Given the description of an element on the screen output the (x, y) to click on. 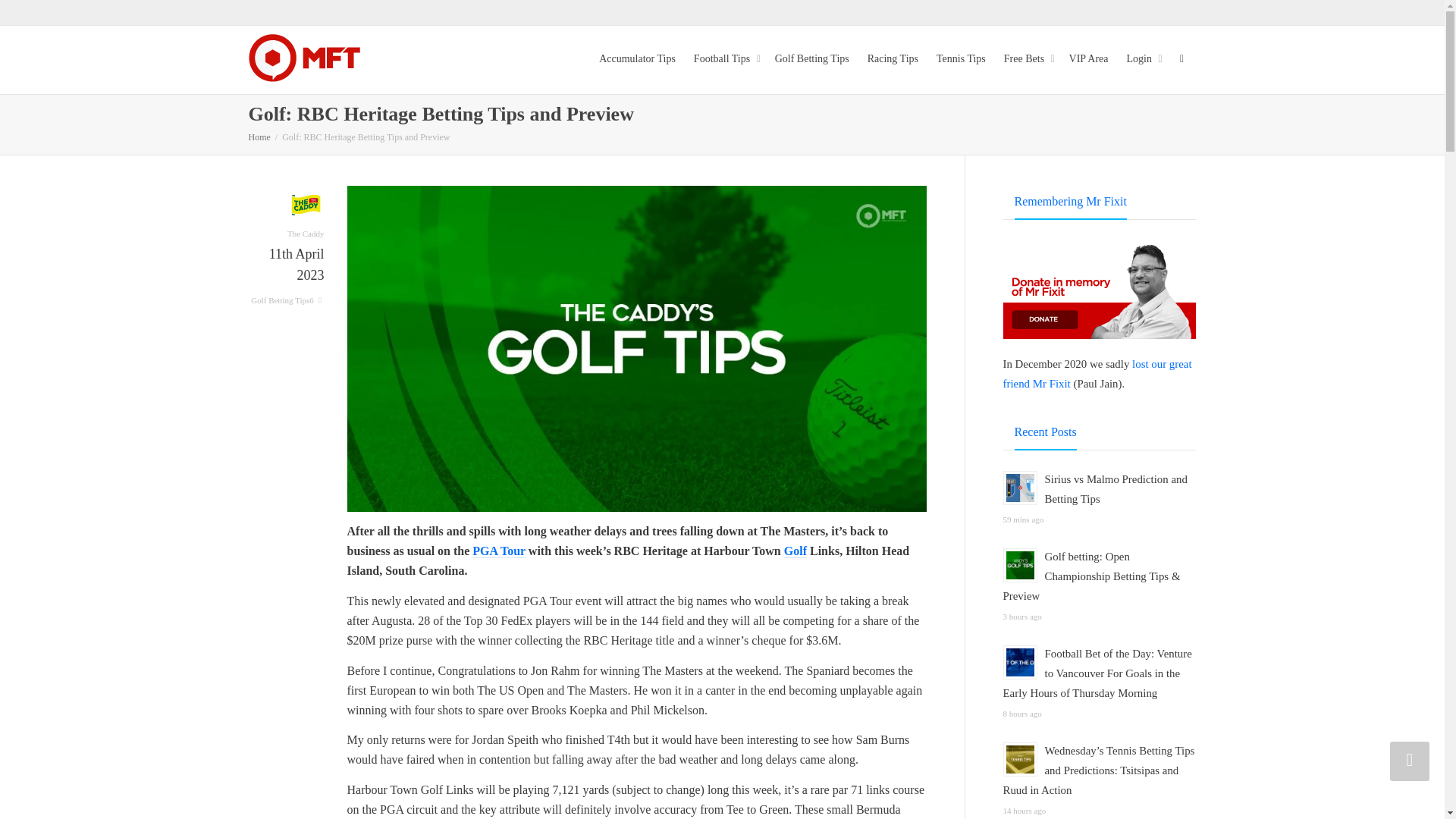
Golf Betting Tips (811, 58)
Accumulator Tips (636, 58)
Home (259, 136)
Login (1142, 58)
6 (315, 299)
Racing Tips (892, 58)
lost our great friend Mr Fixit (1097, 373)
Recent Posts (1045, 433)
PGA Tour (498, 550)
Accumulator Tips (636, 58)
View all POSTS by The Caddy (305, 221)
VIP Area (1088, 58)
Tennis Tips (960, 58)
Login (1142, 58)
Free Bets (1027, 58)
